Given the description of an element on the screen output the (x, y) to click on. 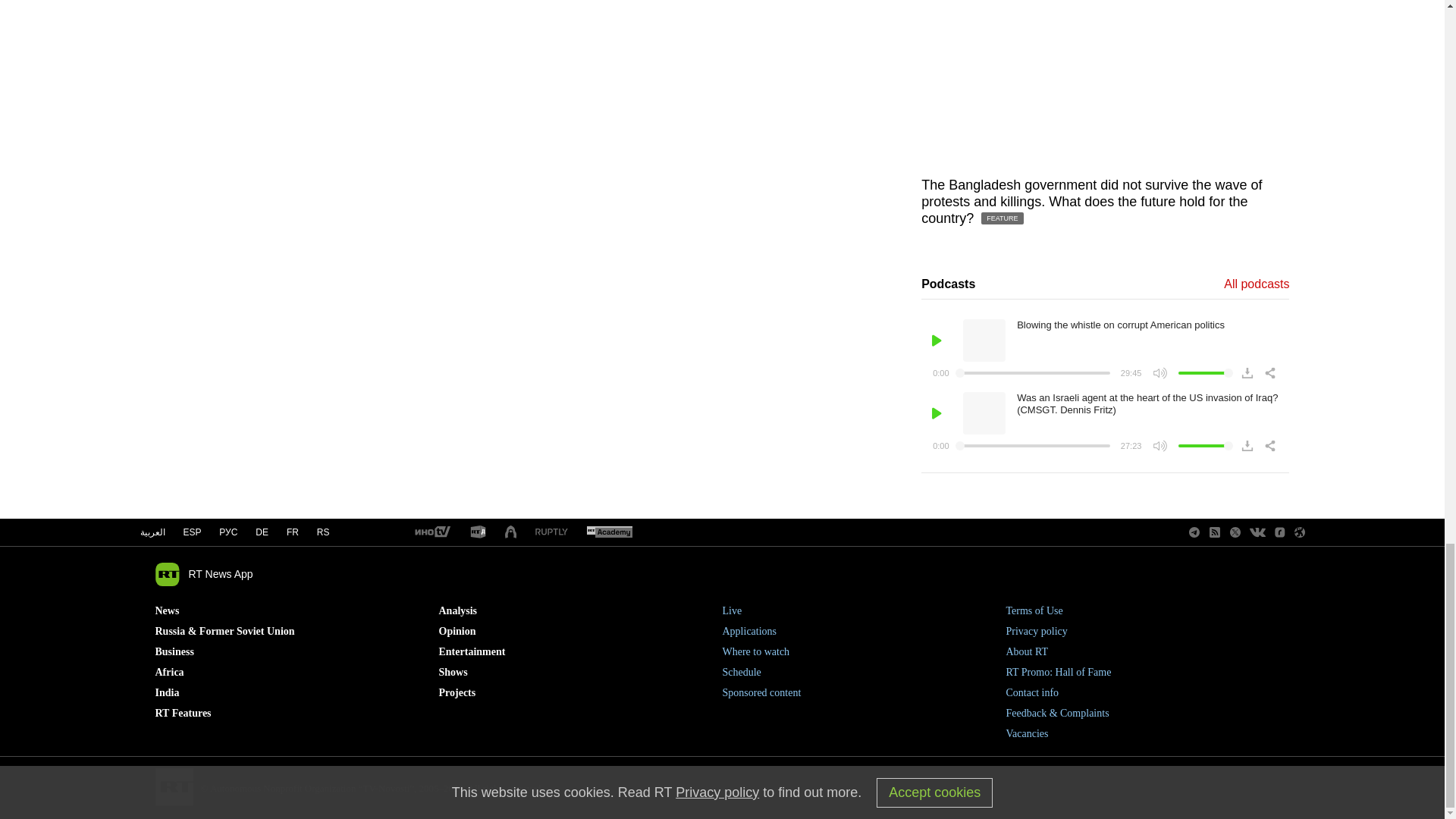
RT  (431, 532)
RT  (551, 532)
RT  (478, 532)
RT  (608, 532)
